Given the description of an element on the screen output the (x, y) to click on. 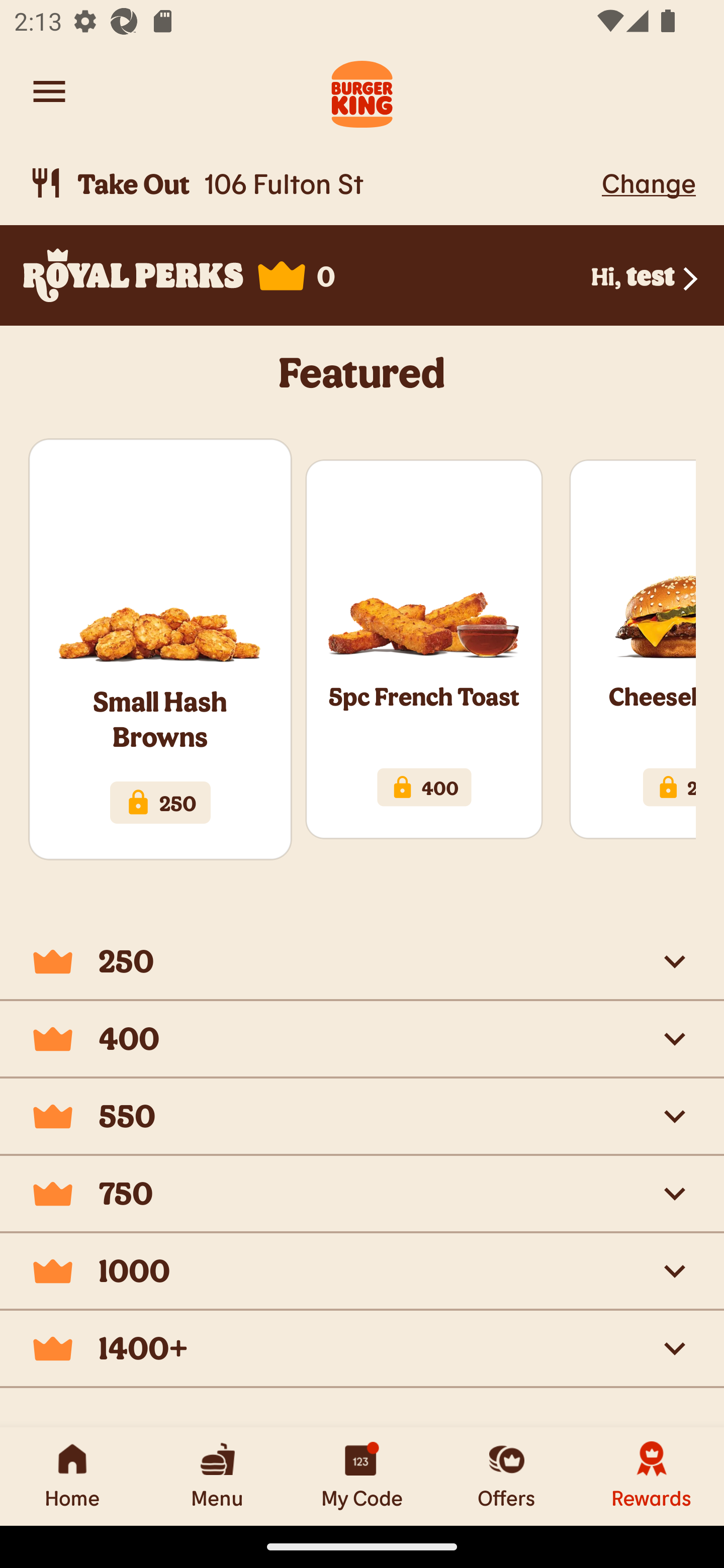
Burger King Logo. Navigate to Home (362, 91)
Navigate to account menu  (49, 91)
Take Out, 106 Fulton St  Take Out 106 Fulton St (311, 183)
Change (648, 182)
Home (72, 1475)
Menu (216, 1475)
My Code (361, 1475)
Offers (506, 1475)
Rewards (651, 1475)
